Given the description of an element on the screen output the (x, y) to click on. 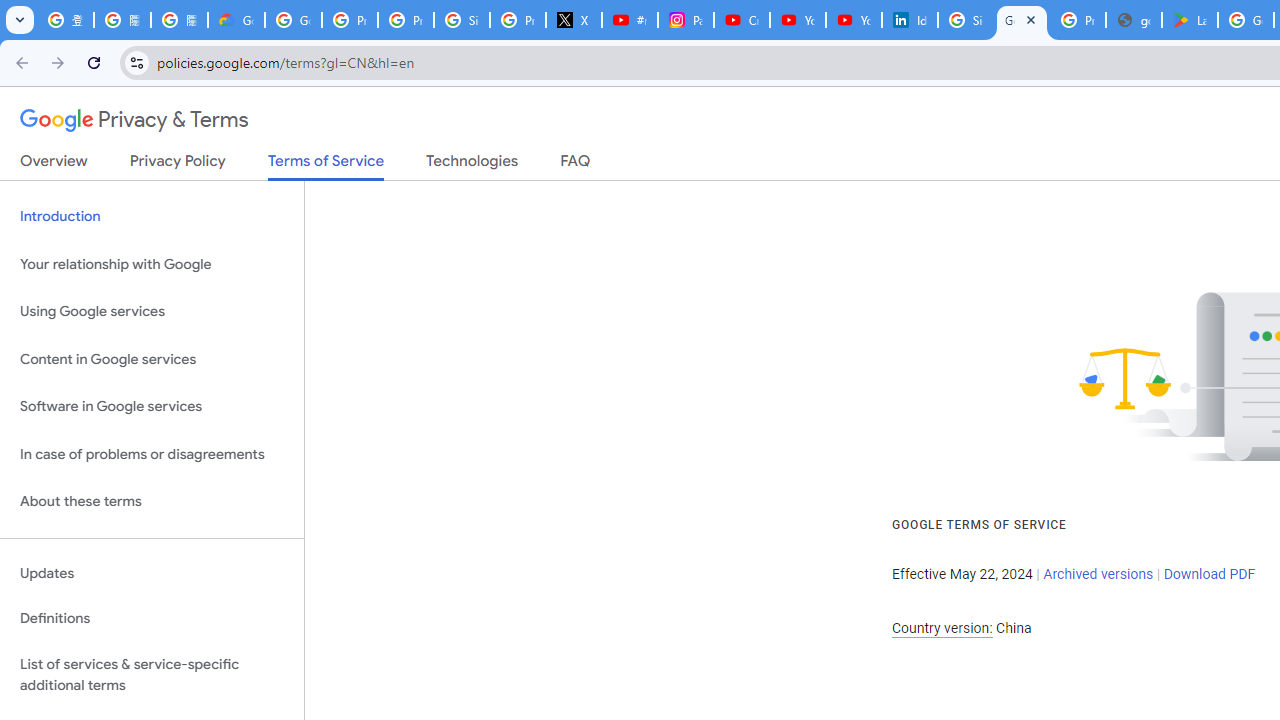
Sign in - Google Accounts (966, 20)
Google Cloud Privacy Notice (235, 20)
Software in Google services (152, 407)
